Given the description of an element on the screen output the (x, y) to click on. 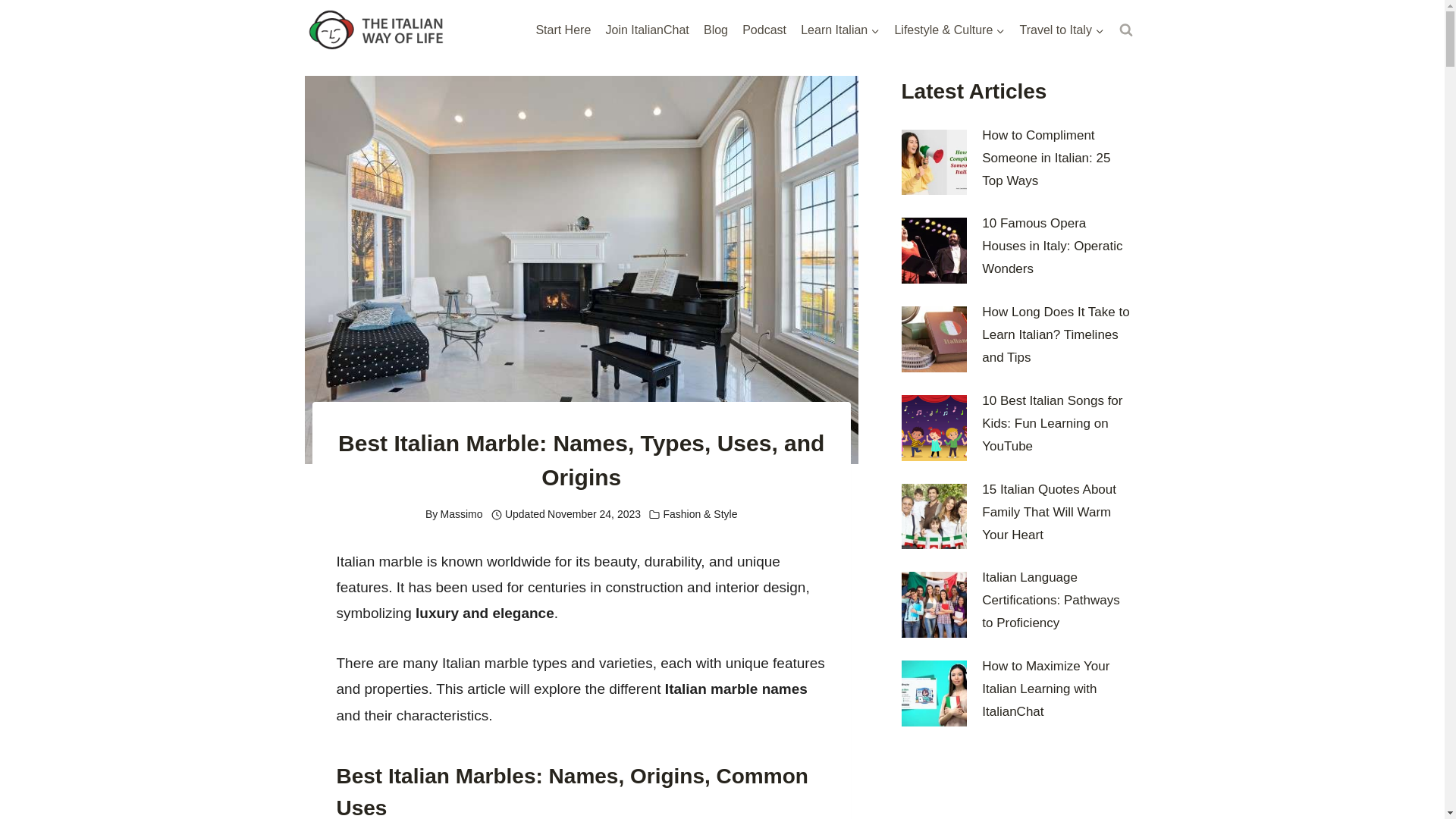
Travel to Italy (1061, 30)
Start Here (563, 30)
Learn Italian (839, 30)
Massimo (462, 513)
Join ItalianChat (646, 30)
Blog (715, 30)
Podcast (764, 30)
